Given the description of an element on the screen output the (x, y) to click on. 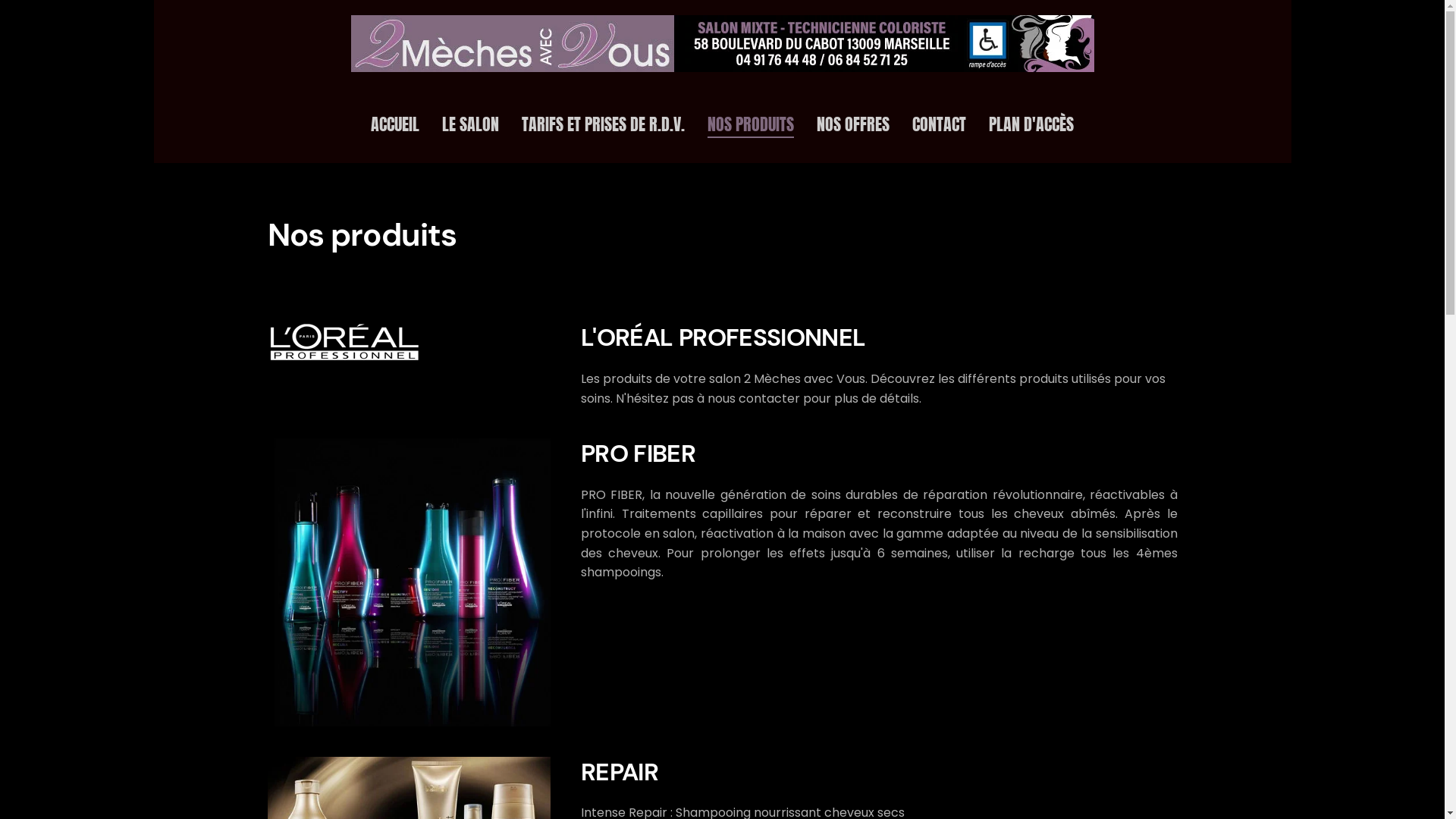
LE SALON Element type: text (470, 124)
TARIFS ET PRISES DE R.D.V. Element type: text (603, 124)
NOS OFFRES Element type: text (852, 124)
NOS PRODUITS Element type: text (750, 124)
ACCUEIL Element type: text (394, 124)
CONTACT Element type: text (938, 124)
